Given the description of an element on the screen output the (x, y) to click on. 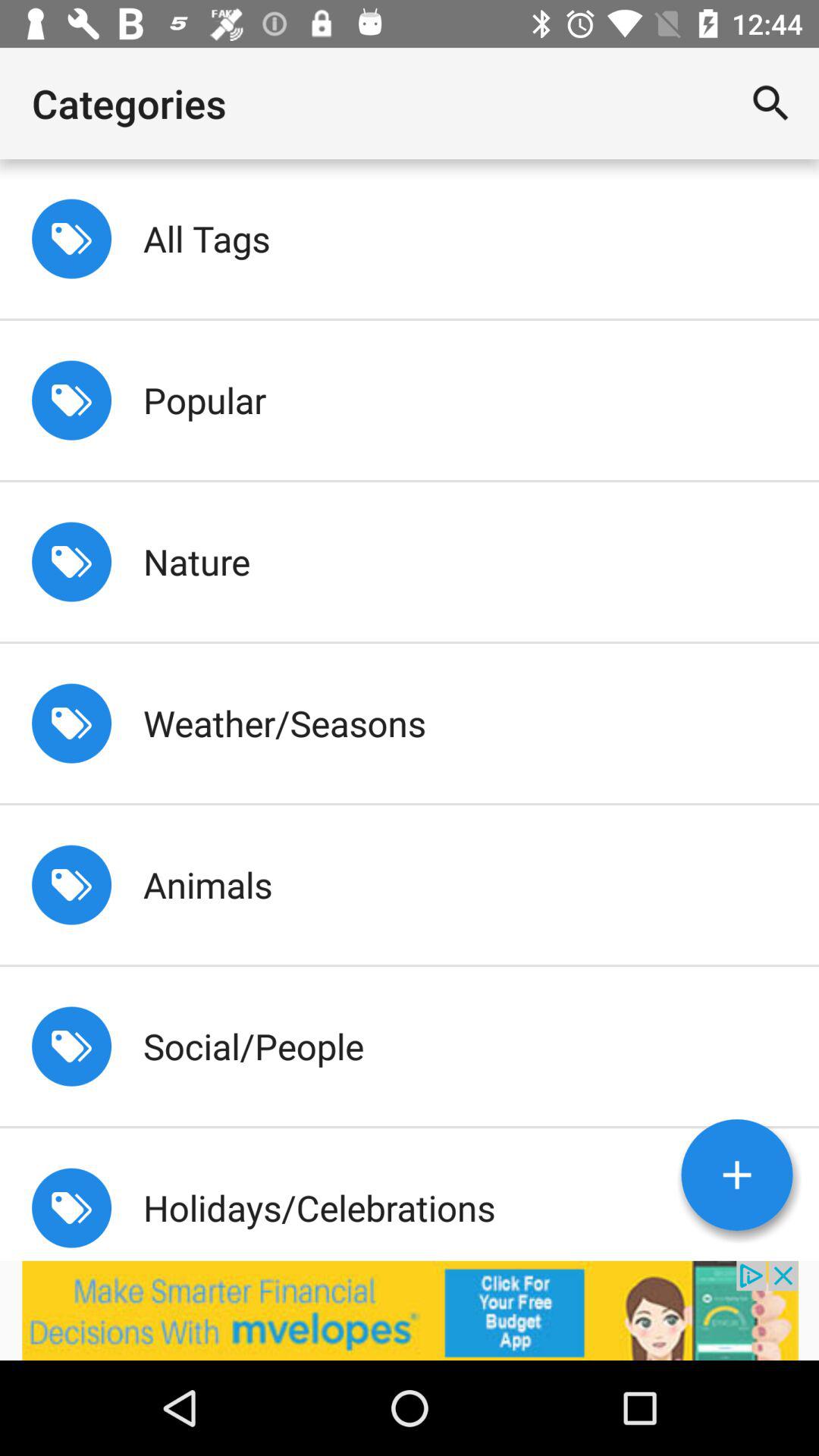
go to add button (737, 1174)
